Given the description of an element on the screen output the (x, y) to click on. 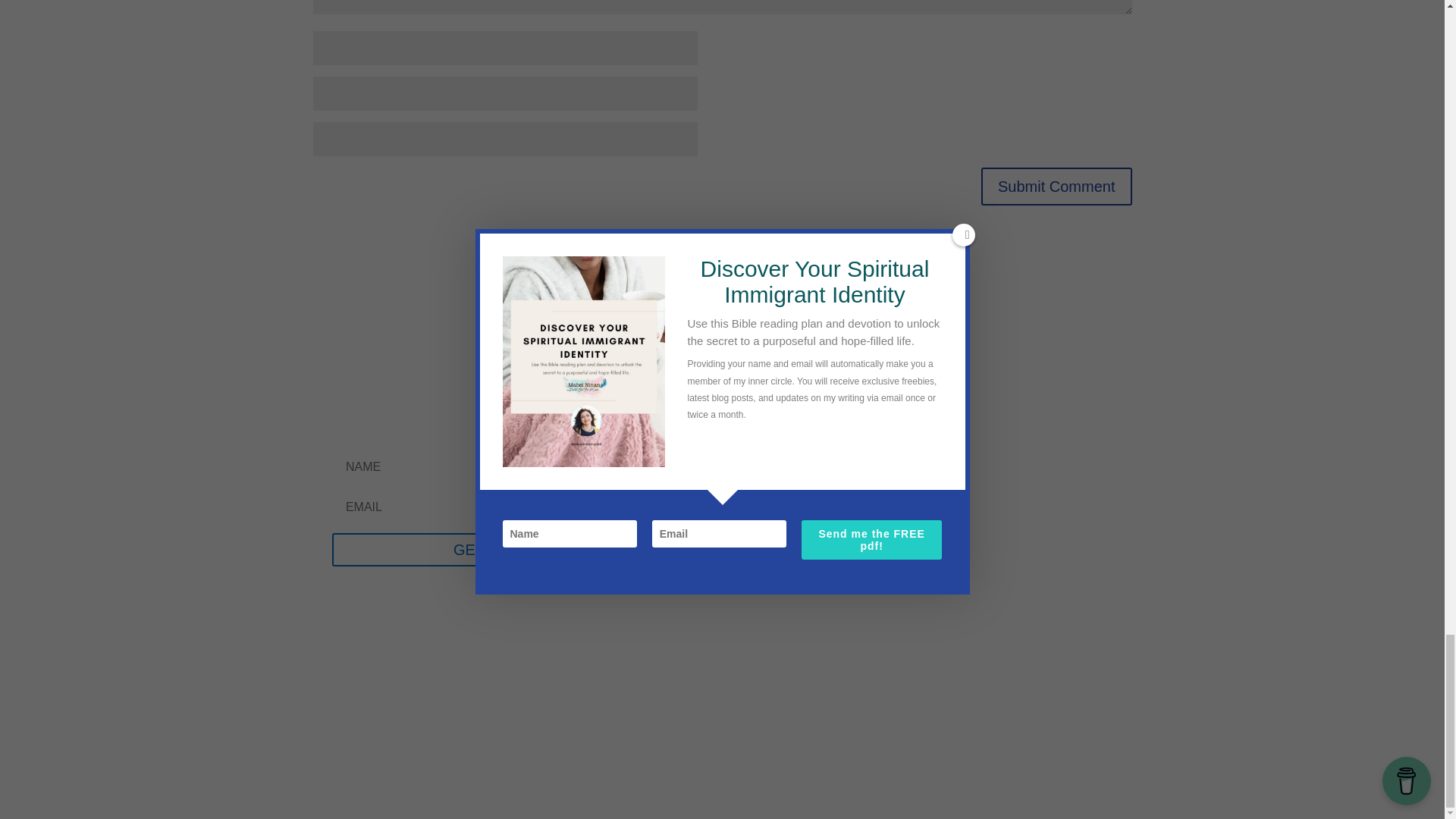
Submit Comment (1056, 186)
